Given the description of an element on the screen output the (x, y) to click on. 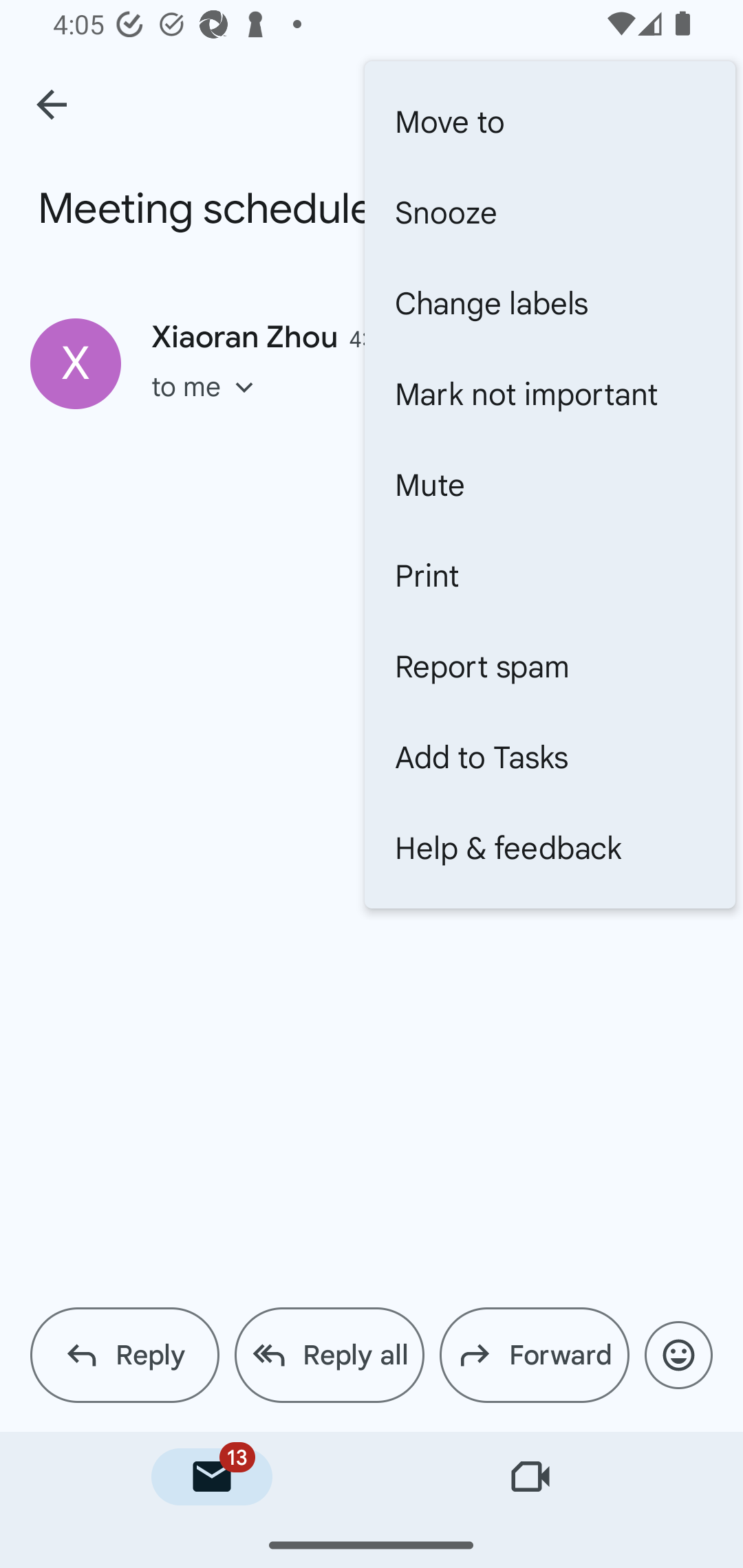
Move to (549, 121)
Snooze (549, 212)
Change labels (549, 302)
Mark not important (549, 393)
Mute (549, 484)
Print (549, 574)
Report spam (549, 665)
Add to Tasks (549, 756)
Help & feedback (549, 847)
